Given the description of an element on the screen output the (x, y) to click on. 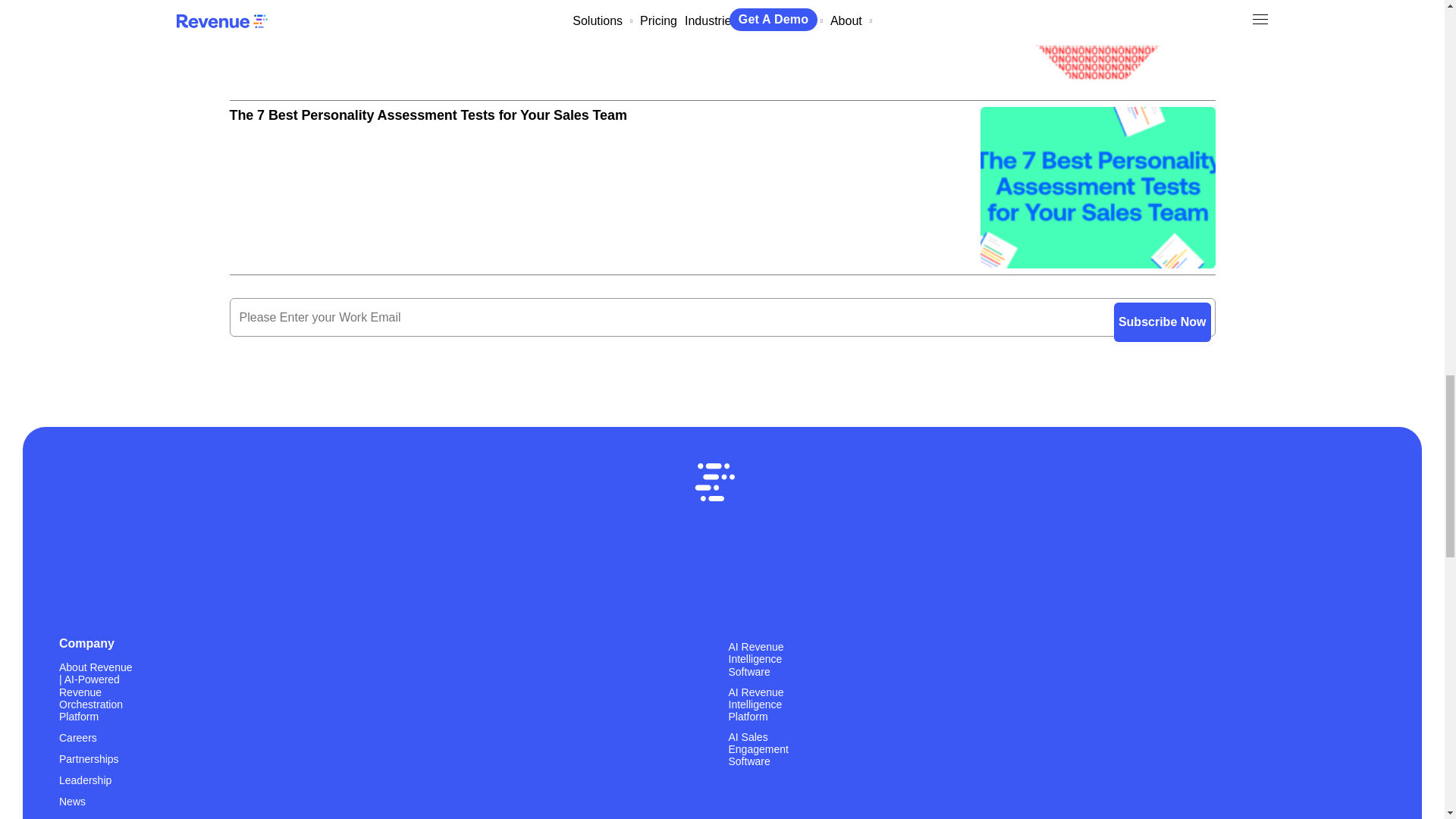
Leadership (85, 779)
News (72, 800)
The Top 5 B2B Sales Objections and How to Overcome Them (721, 35)
Partnerships (89, 758)
Subscribe Now (1162, 299)
Events (75, 817)
Careers (78, 737)
Subscribe Now (1162, 299)
